Given the description of an element on the screen output the (x, y) to click on. 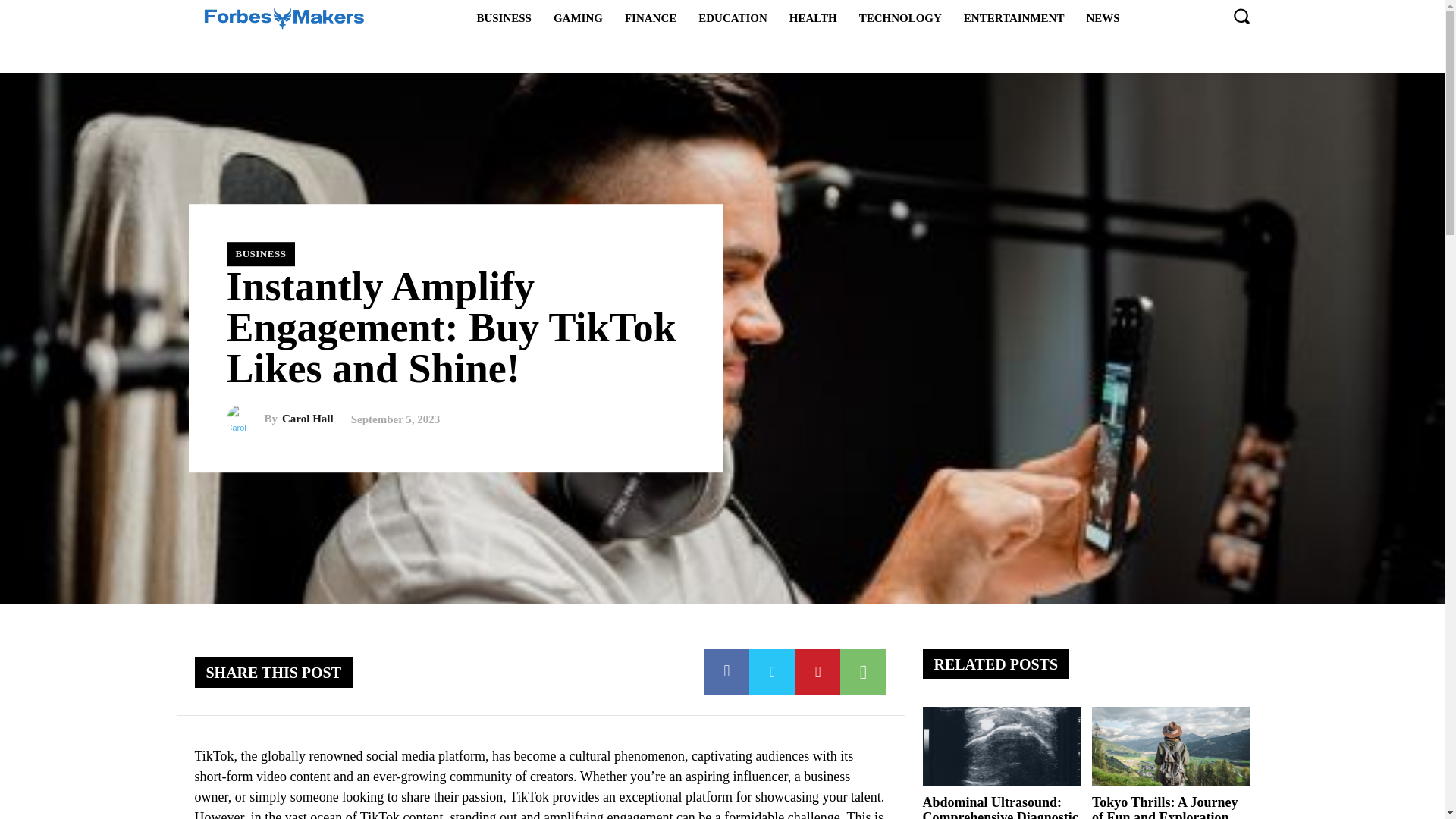
BUSINESS (260, 253)
Tokyo Thrills: A Journey of Fun and Exploration (1165, 806)
TECHNOLOGY (900, 17)
Carol Hall (307, 419)
Carol Hall (244, 419)
Twitter (771, 671)
GAMING (577, 17)
WhatsApp (862, 671)
Abdominal Ultrasound: Comprehensive Diagnostic Tool for Pets (999, 806)
Tokyo Thrills: A Journey of Fun and Exploration (1171, 745)
Facebook (726, 671)
HEALTH (812, 17)
FINANCE (650, 17)
ENTERTAINMENT (1014, 17)
BUSINESS (503, 17)
